Given the description of an element on the screen output the (x, y) to click on. 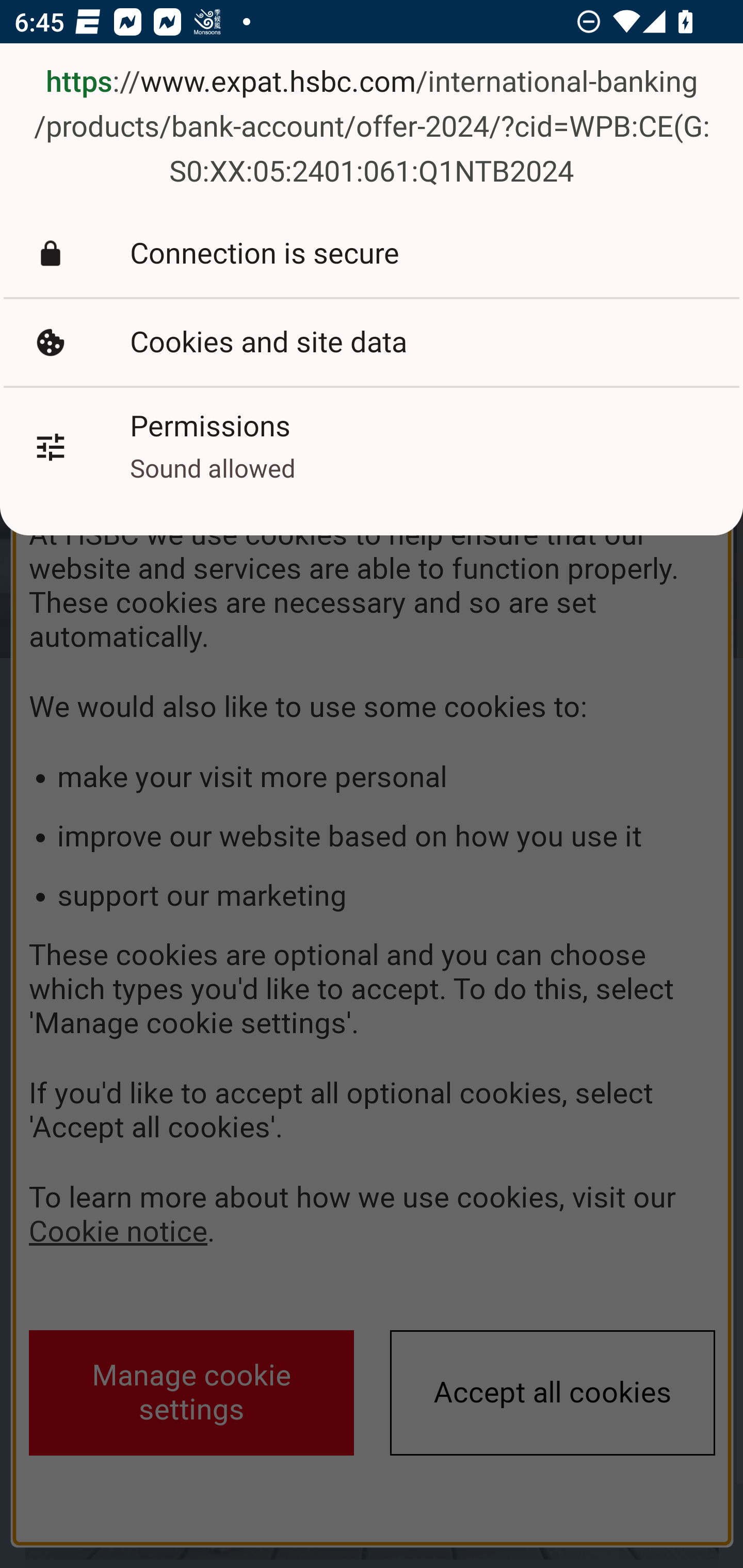
Connection is secure (371, 253)
Cookies and site data (371, 342)
Permissions Sound allowed (371, 446)
